Given the description of an element on the screen output the (x, y) to click on. 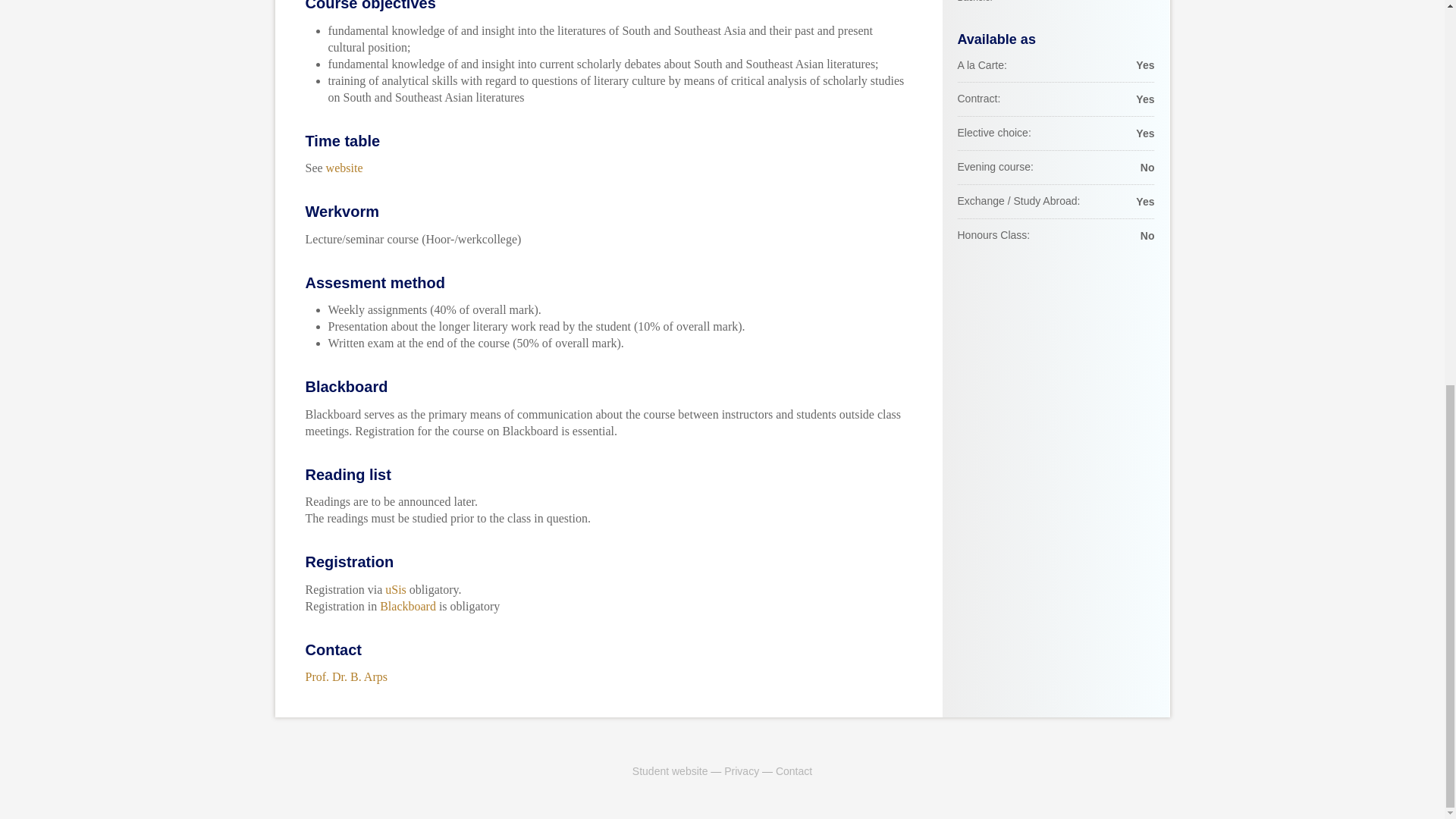
website (344, 167)
uSis (395, 589)
Prof. Dr. B. Arps (345, 676)
Contact (794, 770)
Student website (669, 770)
Privacy (740, 770)
Blackboard (407, 605)
